Given the description of an element on the screen output the (x, y) to click on. 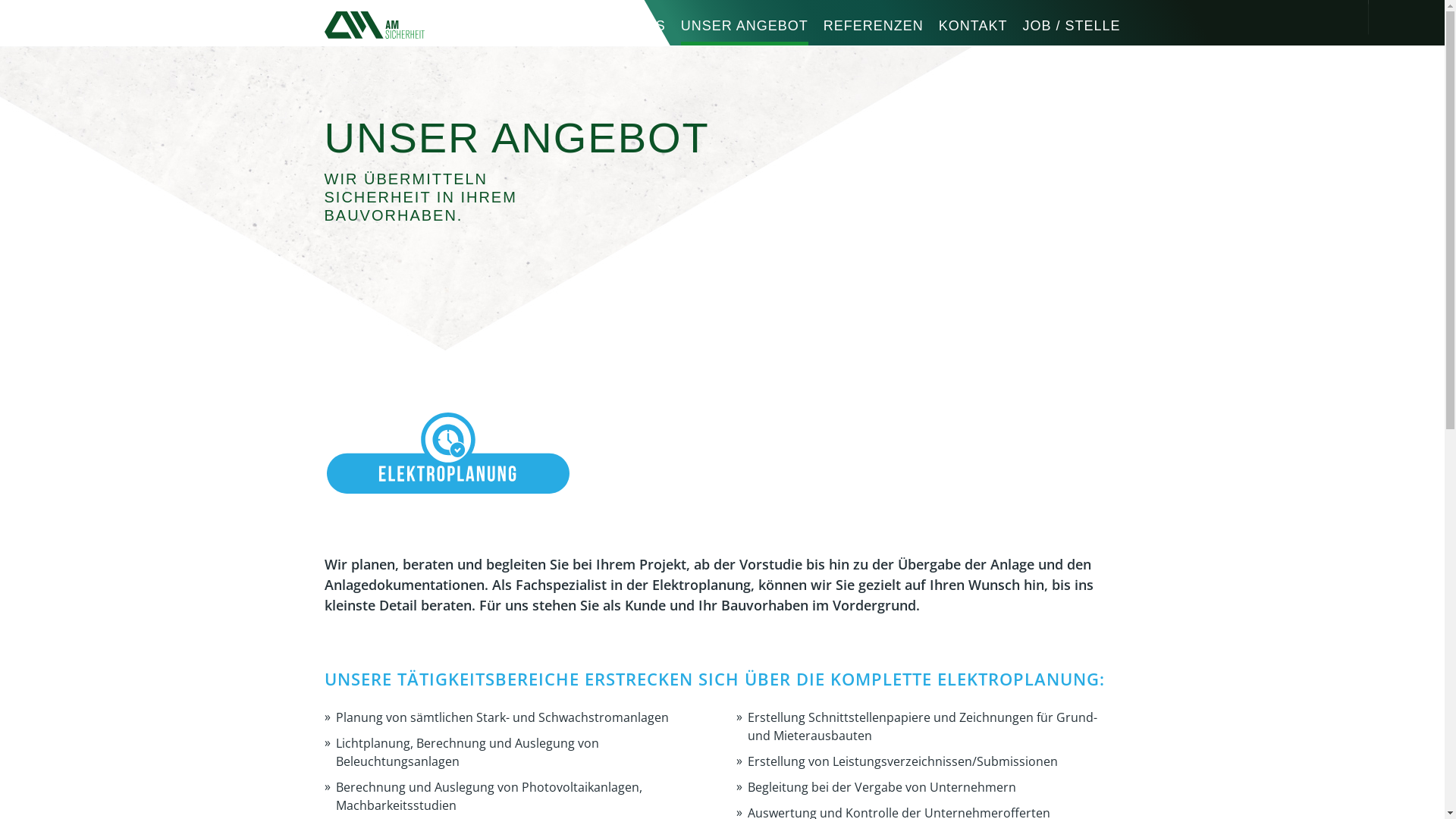
UNSER ANGEBOT Element type: text (744, 27)
HOME Element type: text (552, 27)
REFERENZEN Element type: text (873, 27)
JOB / STELLE Element type: text (1071, 27)
KONTAKT Element type: text (972, 27)
